Given the description of an element on the screen output the (x, y) to click on. 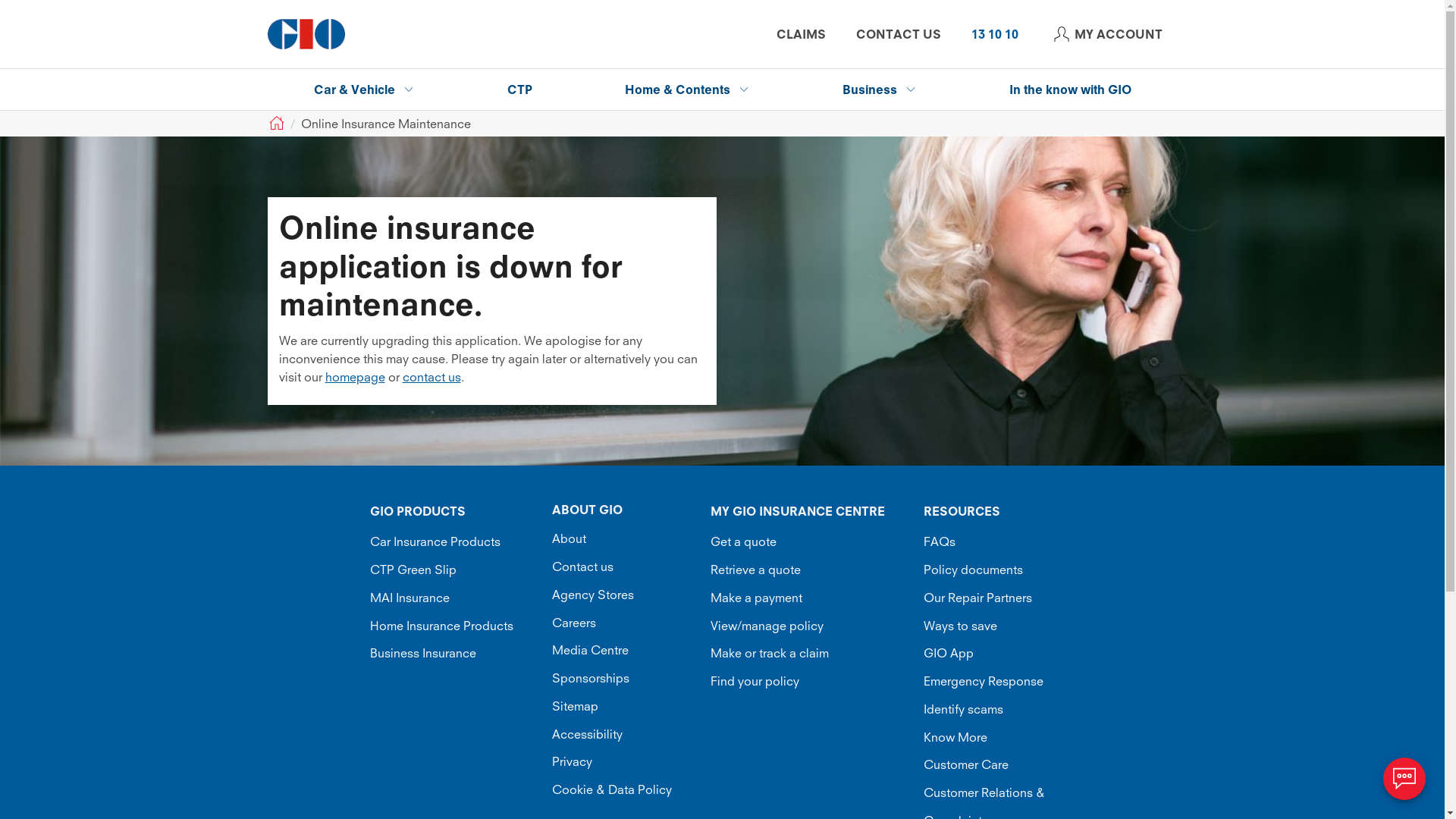
View/manage policy Element type: text (813, 625)
MY ACCOUNT Element type: text (1104, 34)
CTP Green Slip Element type: text (457, 569)
Find your policy Element type: text (813, 681)
CLAIMS Element type: text (800, 34)
Sponsorships Element type: text (627, 678)
Careers Element type: text (627, 622)
Business Element type: text (879, 89)
Home Insurance Products Element type: text (457, 625)
Agency Stores Element type: text (627, 594)
About Element type: text (627, 538)
Make a payment Element type: text (813, 597)
Business Insurance Element type: text (457, 653)
CONTACT US Element type: text (897, 34)
Home & Contents Element type: text (686, 89)
CTP Element type: text (519, 89)
Customer Care Element type: text (999, 764)
Ways to save Element type: text (999, 625)
Media Centre Element type: text (627, 650)
FAQs Element type: text (999, 541)
Privacy Element type: text (627, 761)
Make or track a claim Element type: text (813, 653)
Mature woman talks on mobile Element type: hover (722, 300)
GIO Element type: text (274, 123)
Accessibility Element type: text (627, 734)
Car Insurance Products Element type: text (457, 541)
Contact us Element type: text (627, 566)
Our Repair Partners Element type: text (999, 597)
Get a quote Element type: text (813, 541)
Car & Vehicle Element type: text (363, 89)
contact us Element type: text (430, 376)
Identify scams Element type: text (999, 709)
ABOUT GIO Element type: text (627, 509)
Cookie & Data Policy Element type: text (627, 789)
Retrieve a quote Element type: text (813, 569)
Policy documents Element type: text (999, 569)
In the know with GIO Element type: text (1070, 89)
MAI Insurance Element type: text (457, 597)
homepage Element type: text (354, 376)
Sitemap Element type: text (627, 706)
Emergency Response Element type: text (999, 681)
13 10 10 Element type: text (993, 34)
GIO App Element type: text (999, 653)
Know More Element type: text (999, 737)
